Given the description of an element on the screen output the (x, y) to click on. 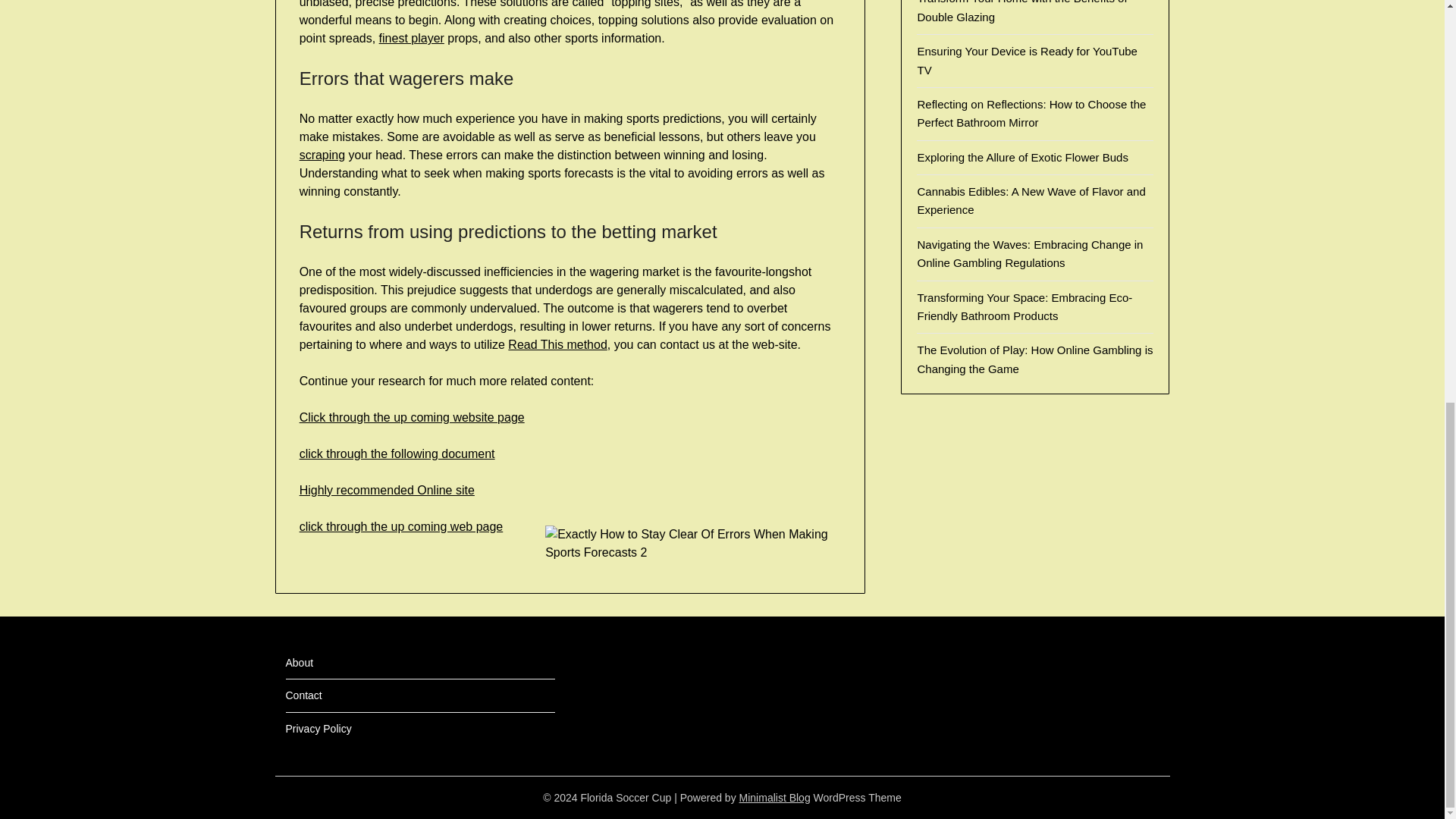
Cannabis Edibles: A New Wave of Flavor and Experience (1030, 200)
Ensuring Your Device is Ready for YouTube TV (1027, 60)
finest player (411, 38)
Exploring the Allure of Exotic Flower Buds (1021, 156)
Privacy Policy (317, 728)
Minimalist Blog (774, 797)
Highly recommended Online site (386, 490)
